Given the description of an element on the screen output the (x, y) to click on. 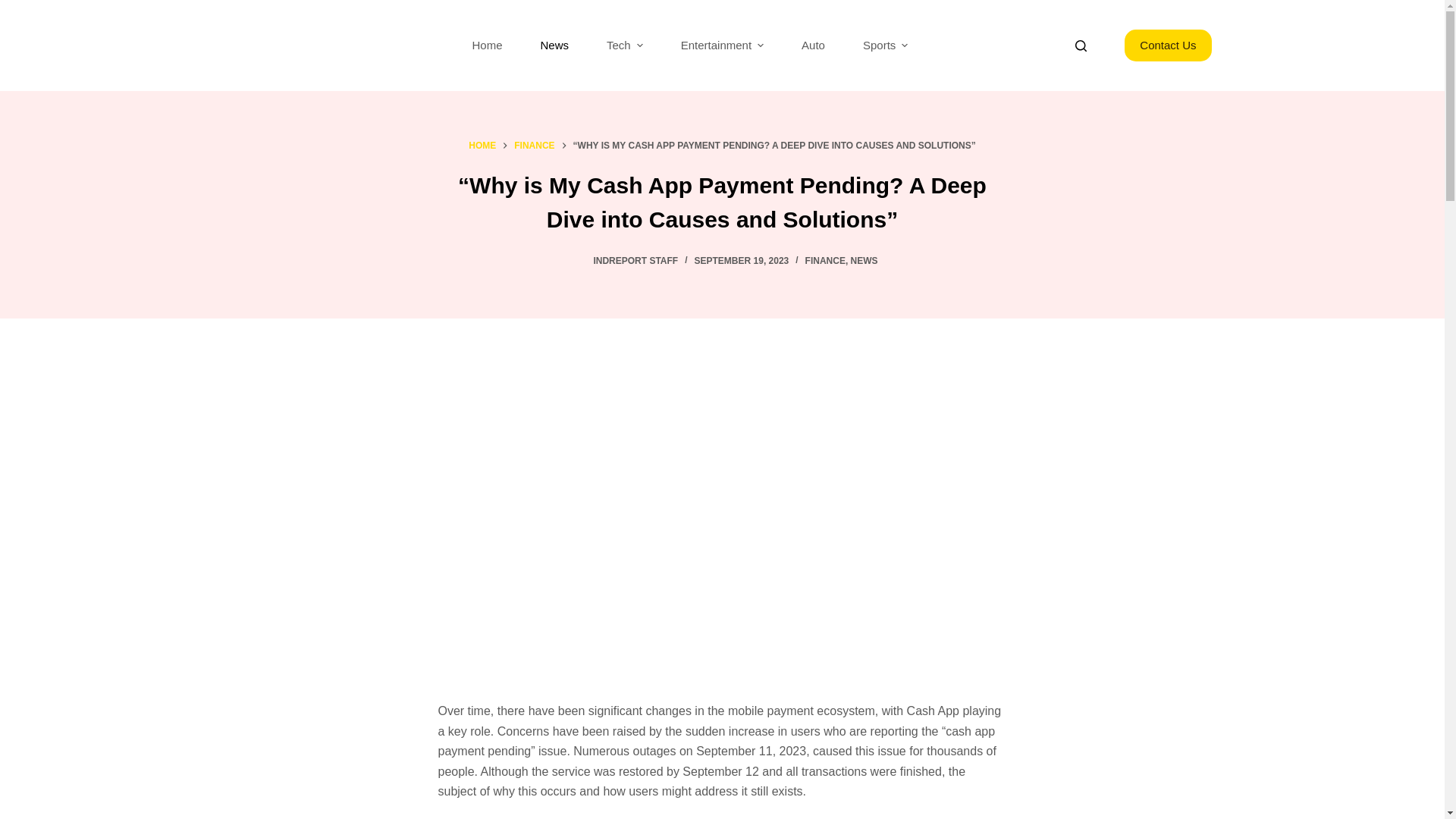
News (554, 45)
Contact Us (1167, 45)
Posts by indreport staff (635, 260)
Skip to content (15, 7)
Sports (885, 45)
Entertainment (722, 45)
Home (486, 45)
Tech (625, 45)
Auto (813, 45)
